Given the description of an element on the screen output the (x, y) to click on. 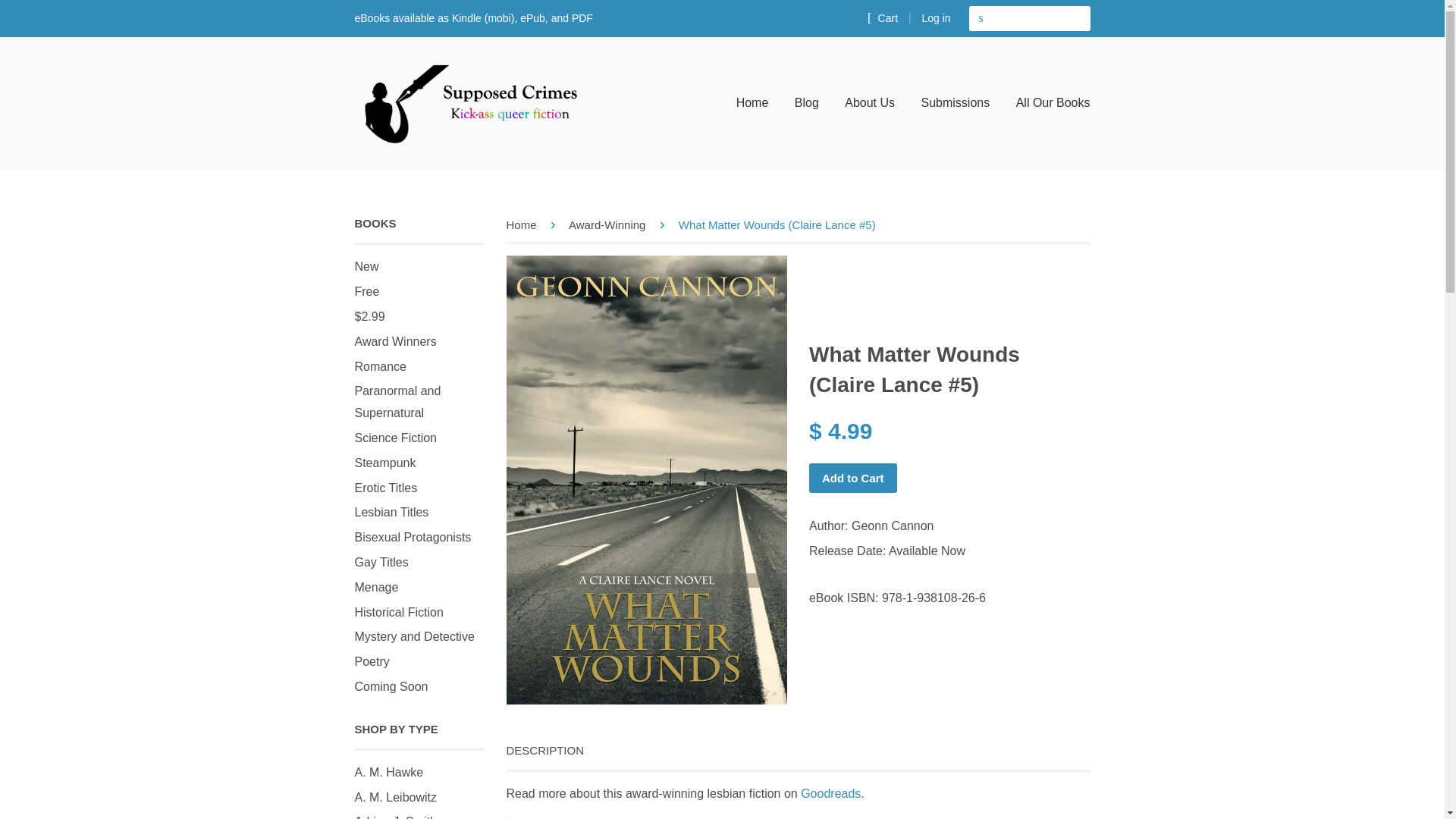
Back to the frontpage (523, 224)
Paranormal and Supernatural (398, 401)
Submissions (955, 103)
Award Winners (395, 341)
Erotic Titles (386, 487)
Blog (806, 103)
Search (980, 18)
Romance (380, 366)
A. M. Hawke (389, 771)
About Us (868, 103)
Log in (935, 18)
Gay Titles (382, 562)
Home (758, 103)
Poetry (372, 661)
Menage (376, 586)
